Given the description of an element on the screen output the (x, y) to click on. 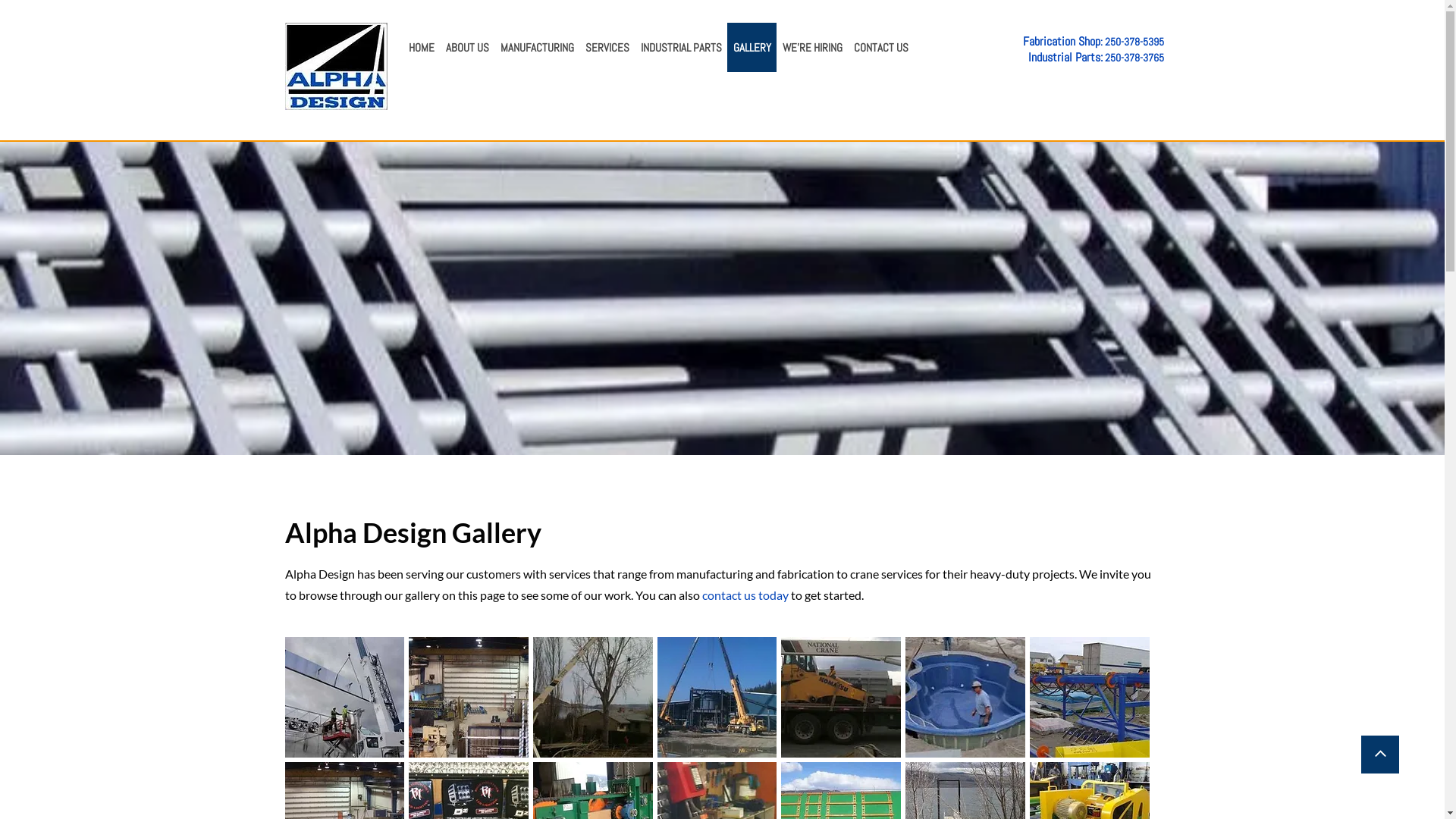
GALLERY Element type: text (750, 47)
250-378-5395 Element type: text (1133, 41)
HOME Element type: text (420, 47)
MANUFACTURING Element type: text (536, 47)
contact us today Element type: text (745, 597)
SERVICES Element type: text (606, 47)
250-378-3765 Element type: text (1133, 57)
CONTACT US Element type: text (880, 47)
ABOUT US Element type: text (466, 47)
INDUSTRIAL PARTS Element type: text (679, 47)
